Given the description of an element on the screen output the (x, y) to click on. 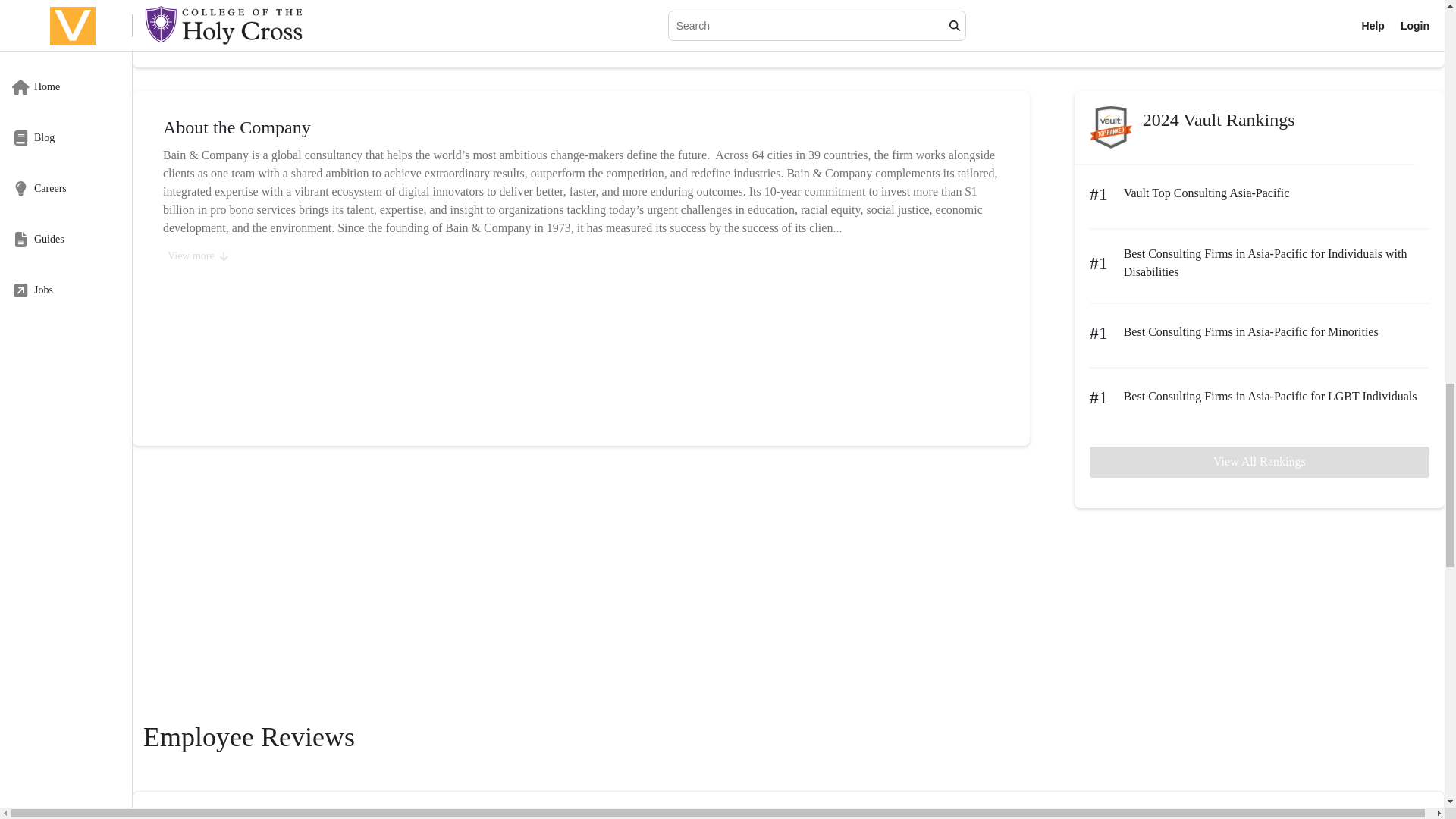
Vault Top Consulting Asia-Pacific (1207, 193)
Best Consulting Firms in Asia-Pacific for Minorities (1251, 331)
View All Rankings (1259, 461)
View more (197, 256)
3rd party ad content (788, 617)
Best Consulting Firms in Asia-Pacific for LGBT Individuals (1270, 396)
View more (189, 36)
